Given the description of an element on the screen output the (x, y) to click on. 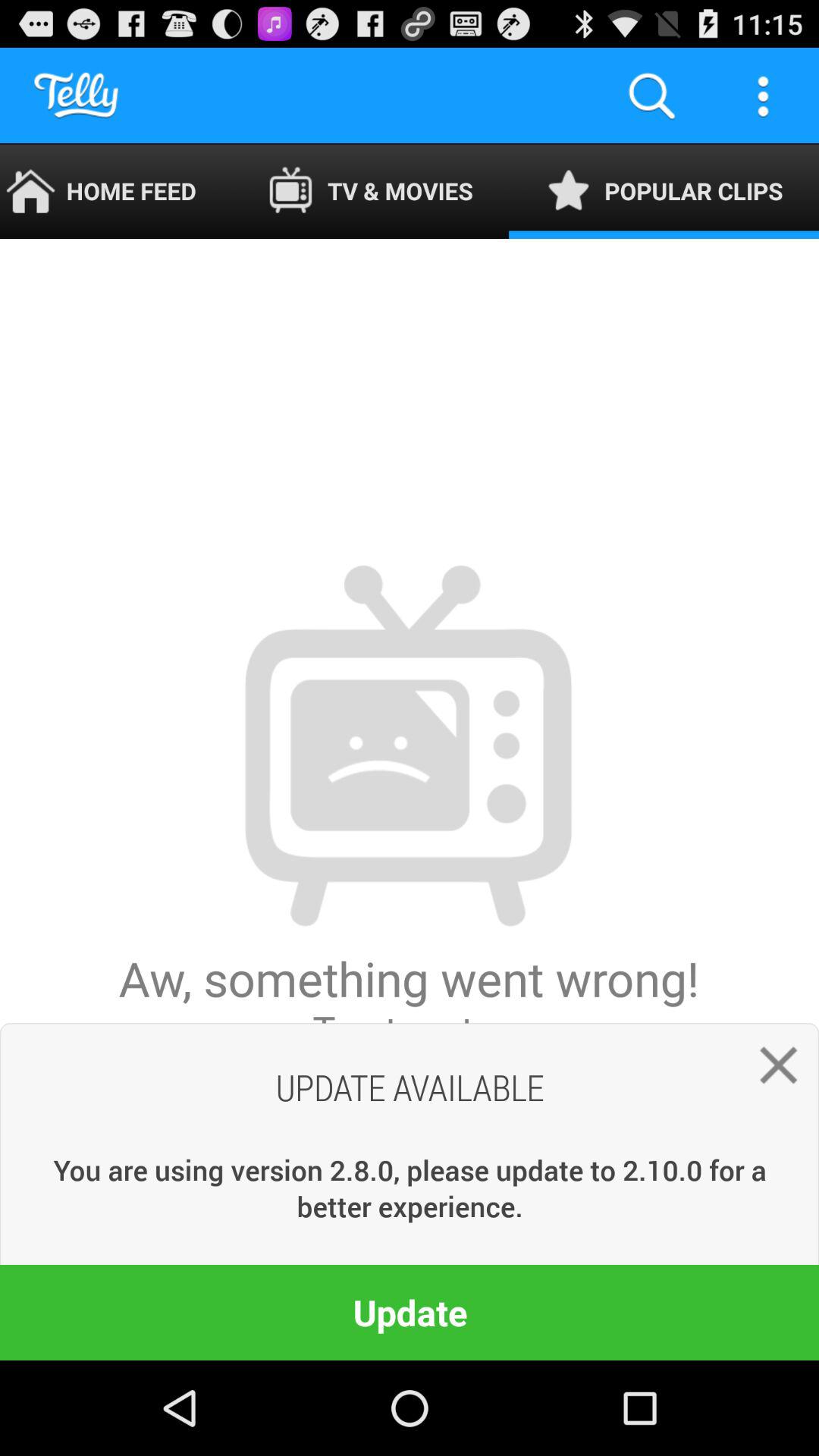
select the app next to the tv & movies (664, 190)
